Given the description of an element on the screen output the (x, y) to click on. 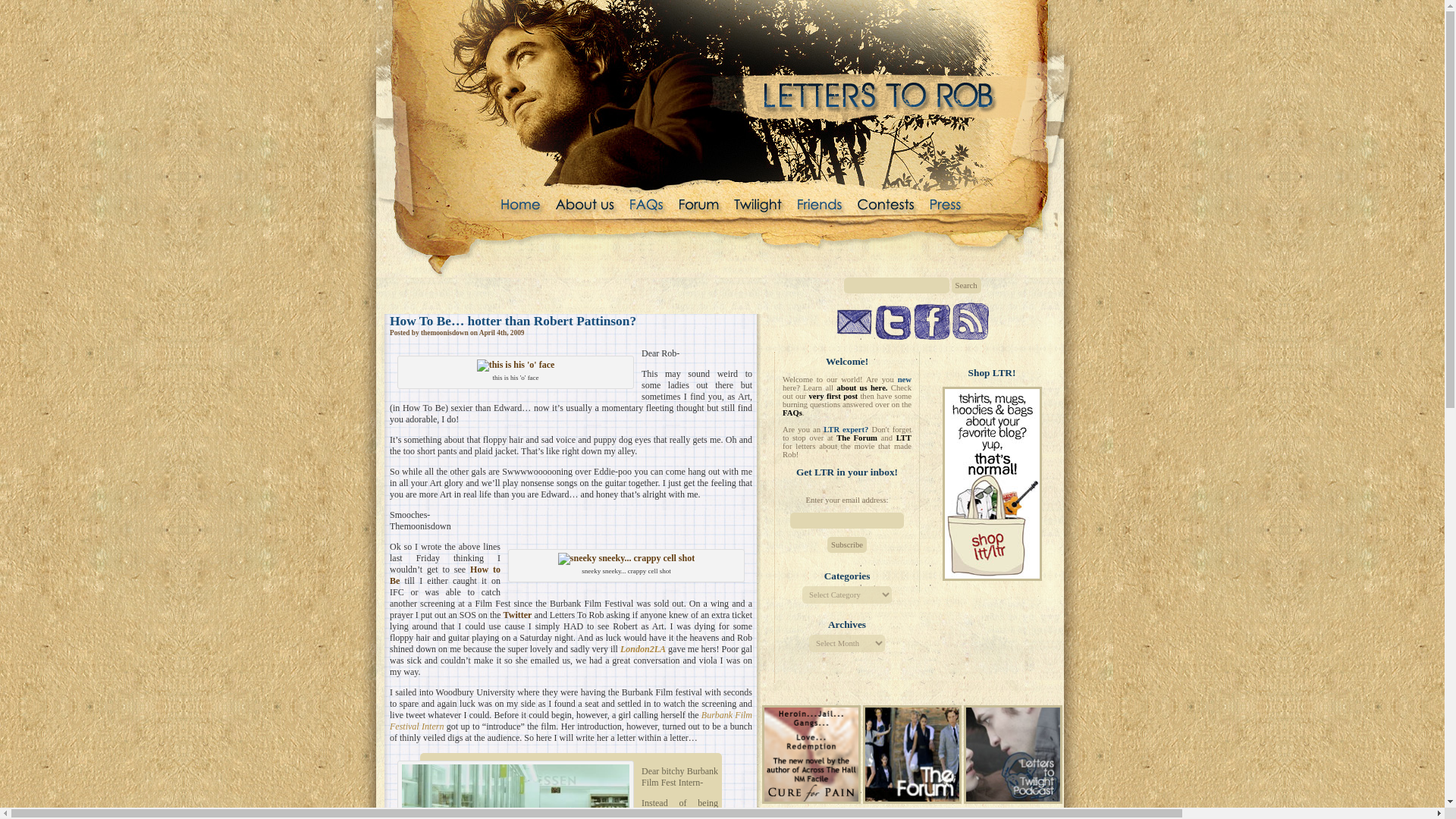
FAQs (792, 412)
about us here. (860, 388)
We love to Tweet! (893, 322)
LTT Forum (911, 800)
very first post (832, 396)
Cure for Pain (810, 754)
howtobecooler (514, 791)
img00226 (625, 558)
howtobebed (515, 365)
LTT (903, 438)
How to Be (445, 575)
Search (964, 285)
The Forum (856, 438)
Subscribe to our posts! (970, 320)
LTT Podcast (1012, 754)
